Given the description of an element on the screen output the (x, y) to click on. 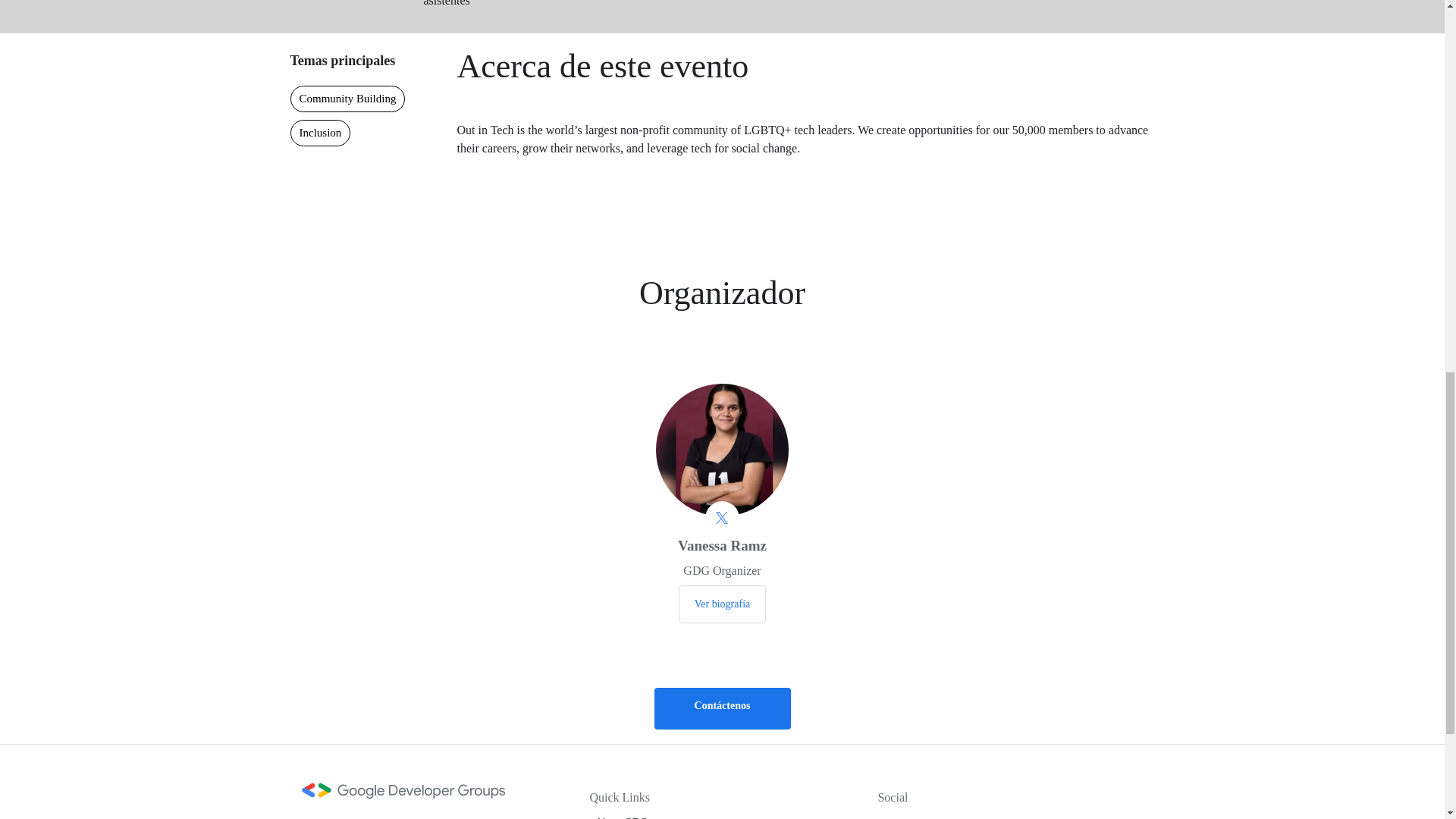
About GDG (621, 817)
Inclusion (319, 132)
Community Building (346, 98)
